Given the description of an element on the screen output the (x, y) to click on. 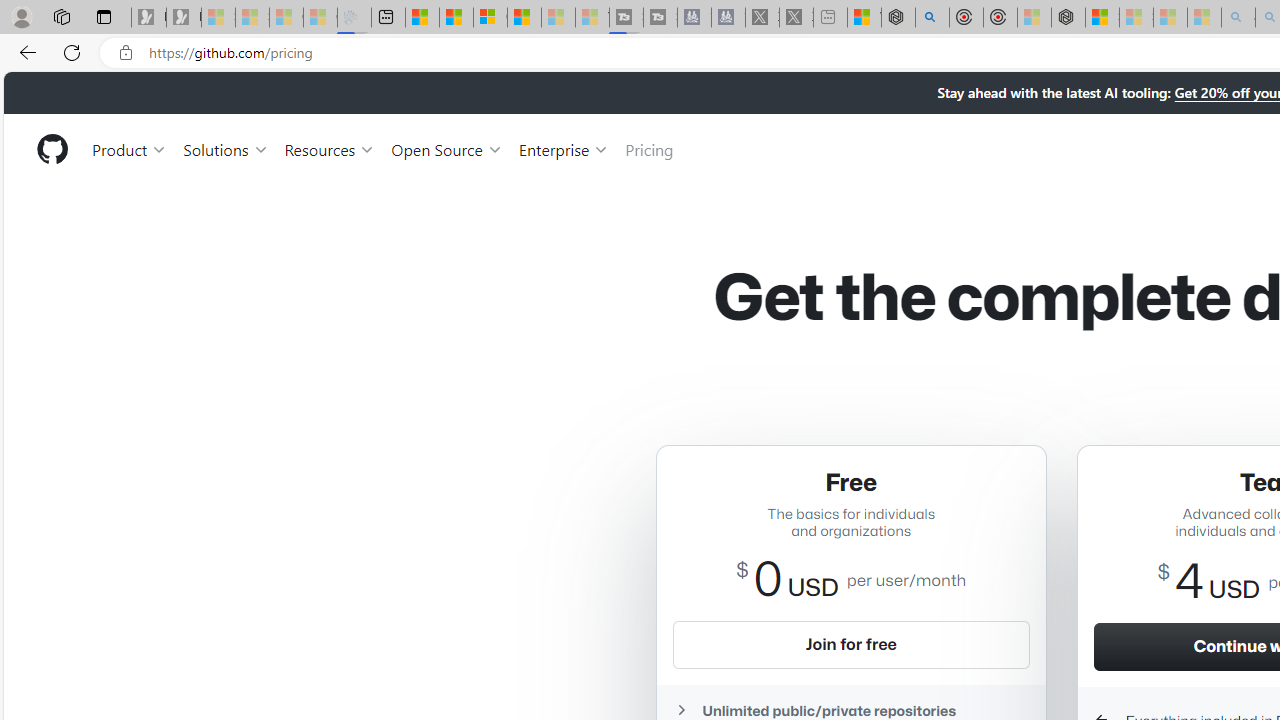
Solutions (225, 148)
